Given the description of an element on the screen output the (x, y) to click on. 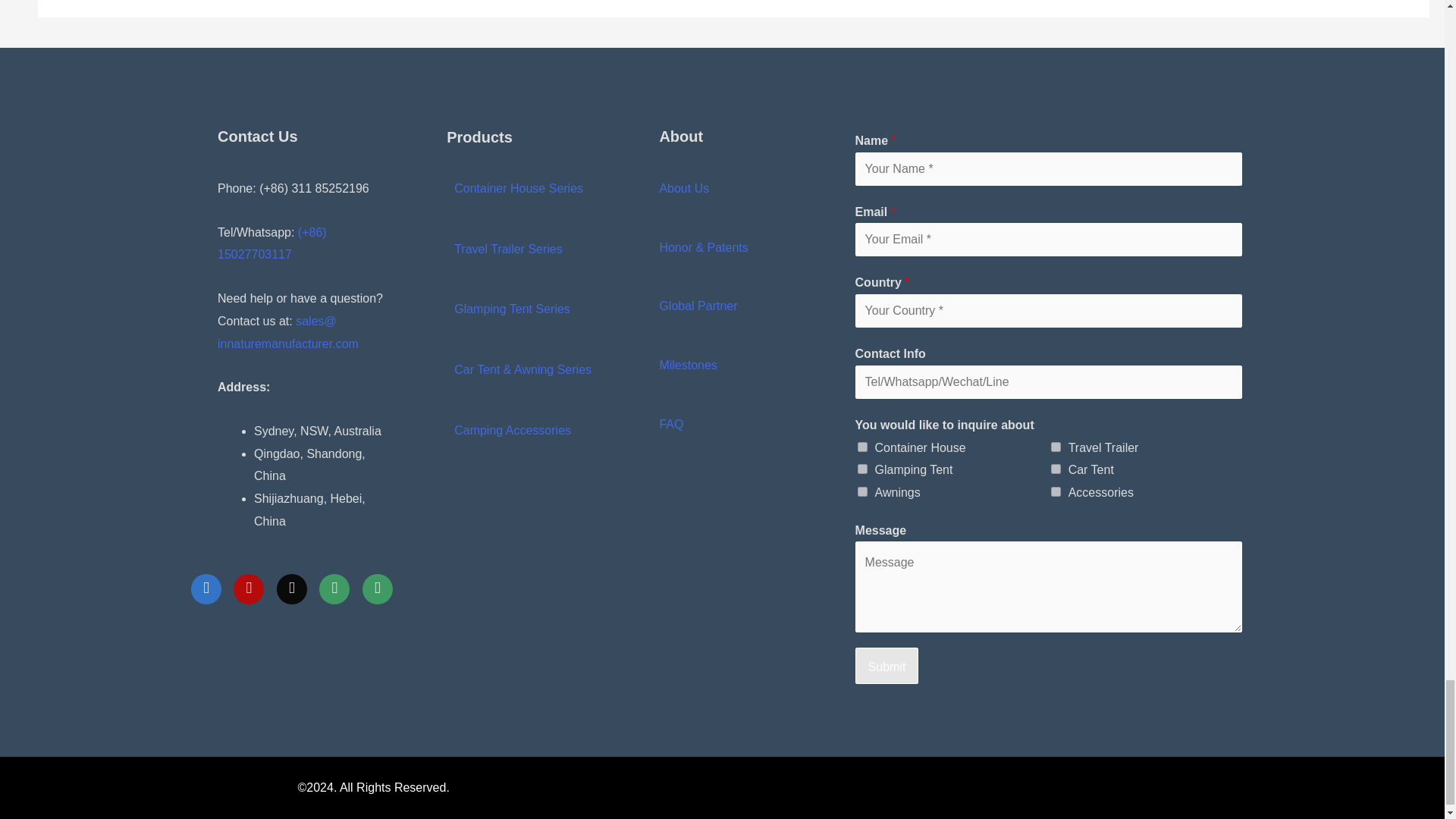
Glamping Tent (862, 469)
Car Tent (1056, 469)
Accessories (1056, 491)
Travel Trailer (1056, 447)
Container House (862, 447)
Awnings (862, 491)
